Given the description of an element on the screen output the (x, y) to click on. 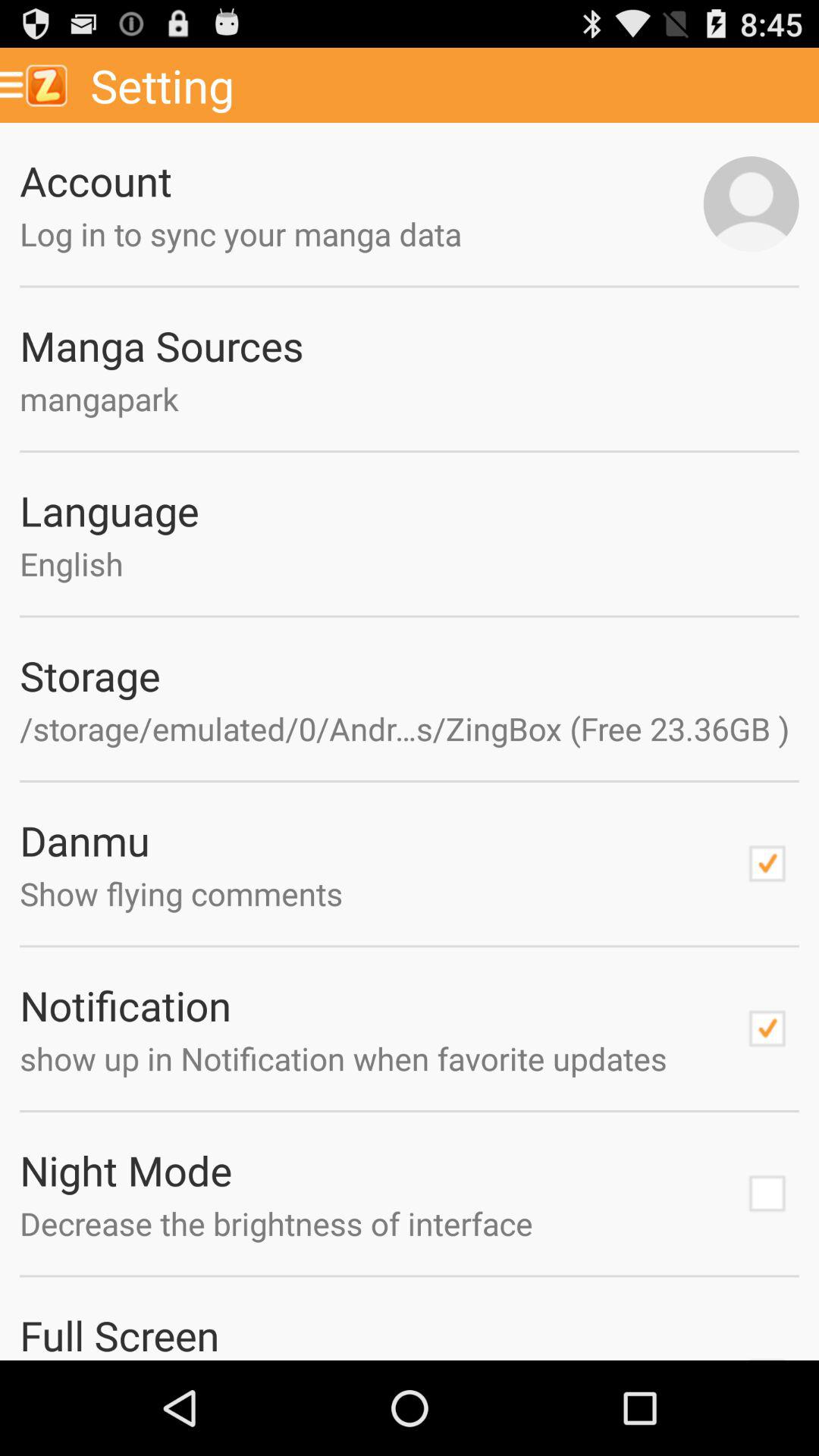
choose the mangapark icon (409, 398)
